Given the description of an element on the screen output the (x, y) to click on. 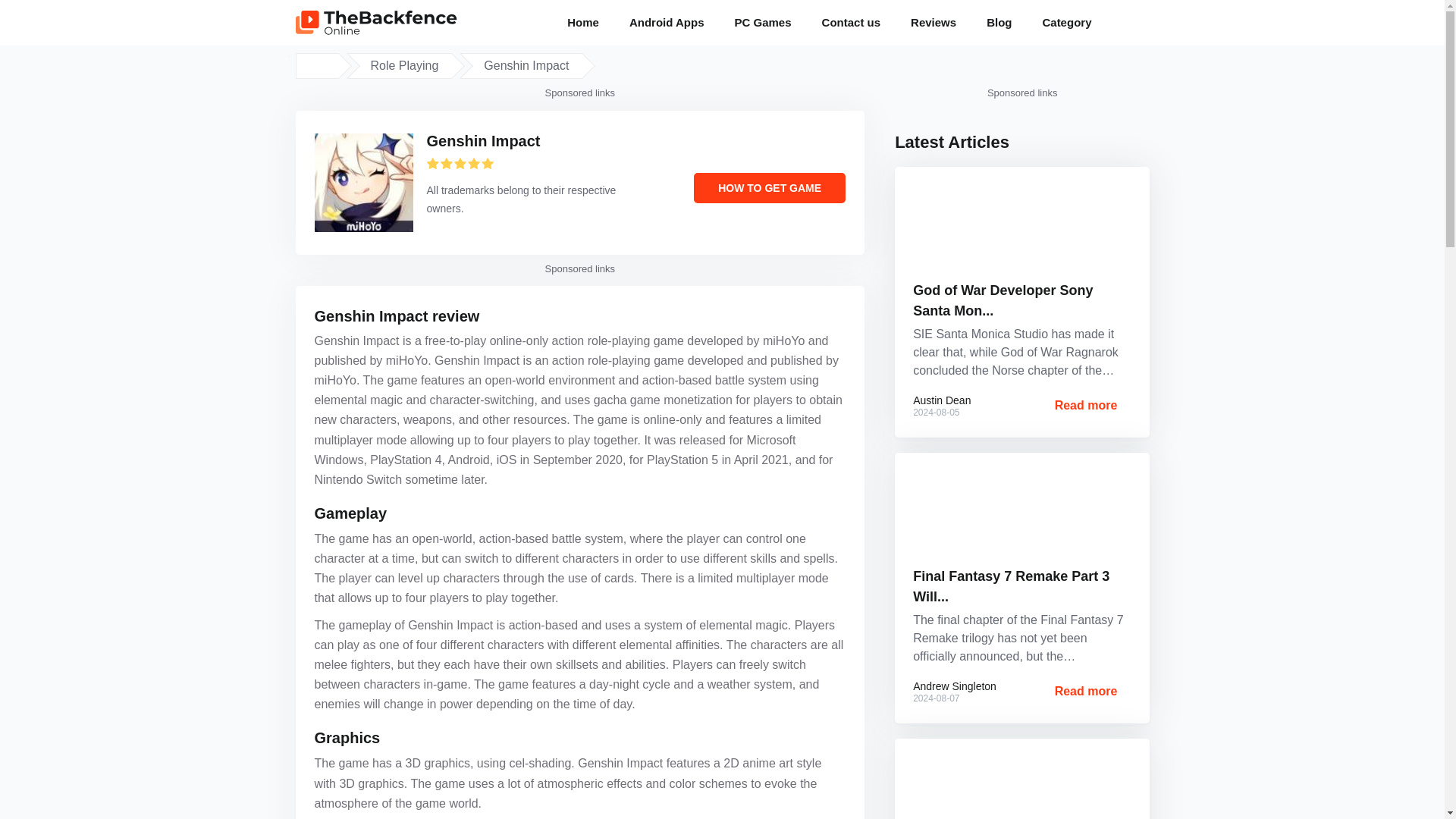
logo (376, 22)
User rating 5 (459, 163)
HOW TO GET GAME (769, 187)
Role Playing (403, 65)
Android Apps (666, 22)
PC Games (762, 22)
Contact us (851, 22)
Category (1072, 22)
Home (582, 22)
Blog (998, 22)
